Given the description of an element on the screen output the (x, y) to click on. 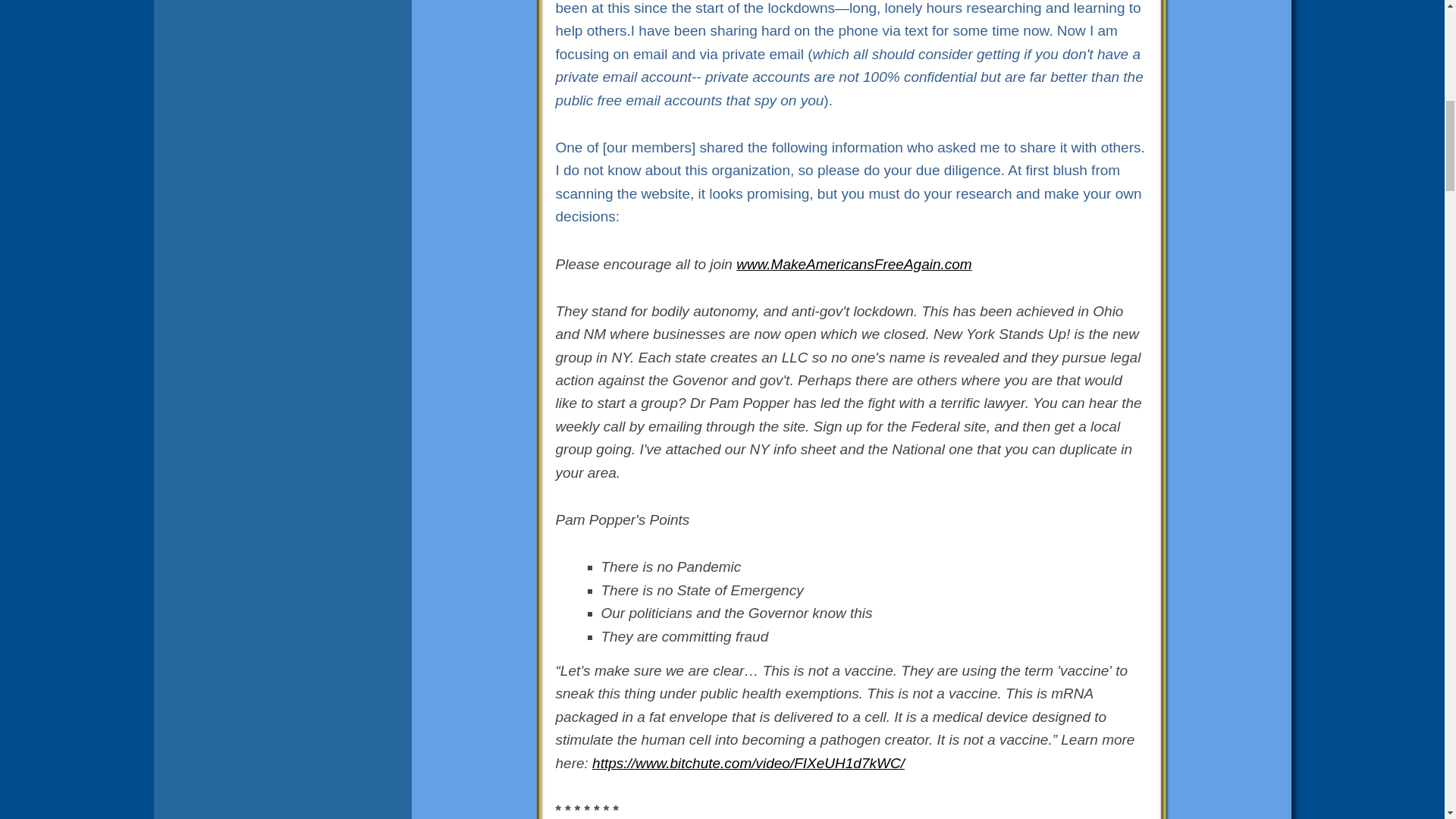
www.MakeAmericansFreeAgain.com (853, 263)
